Given the description of an element on the screen output the (x, y) to click on. 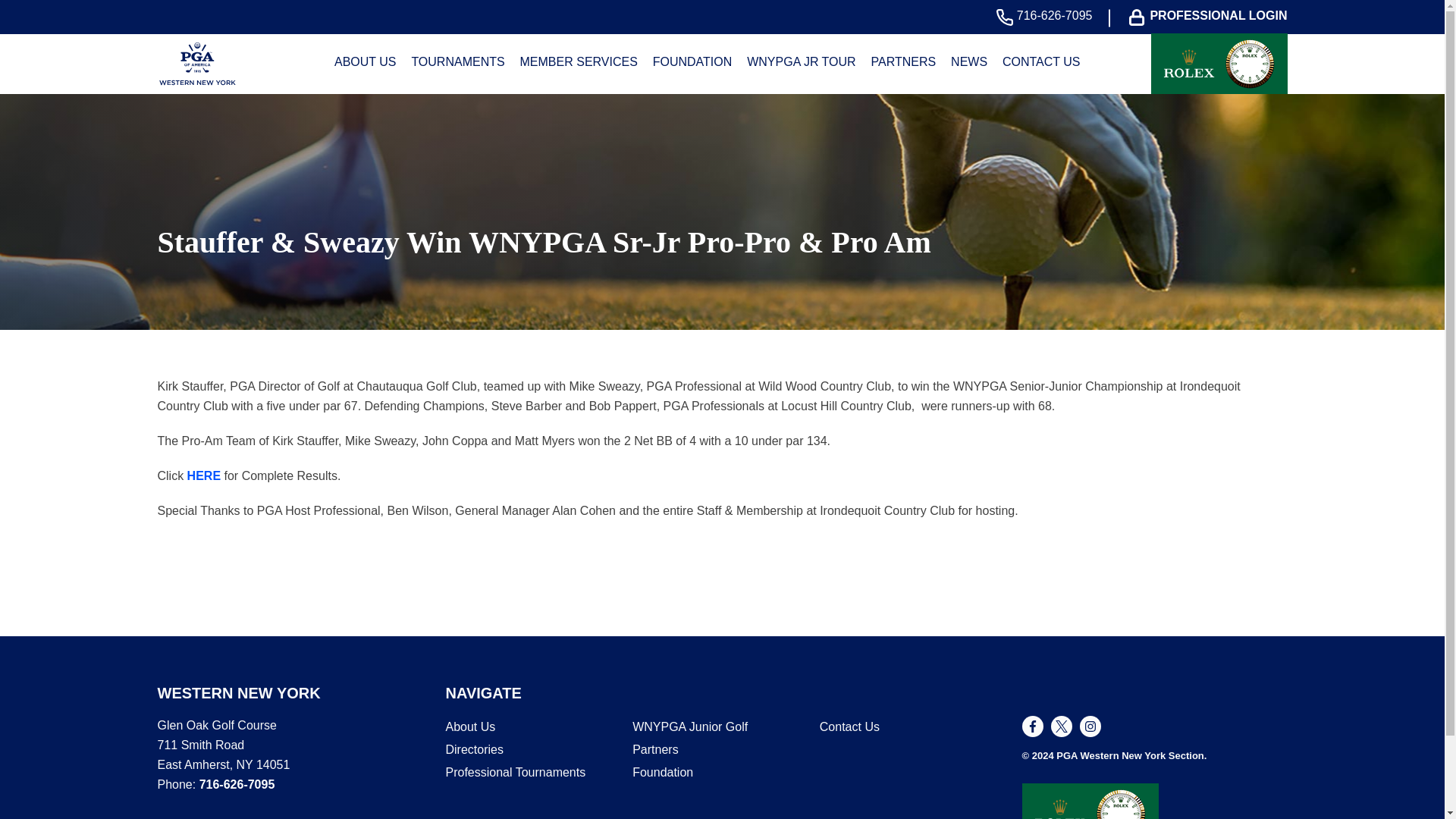
Instagram (1090, 726)
716-626-7095 (1048, 16)
Facebook (1032, 726)
PROFESSIONAL LOGIN (1211, 16)
Twitter (1061, 726)
